Given the description of an element on the screen output the (x, y) to click on. 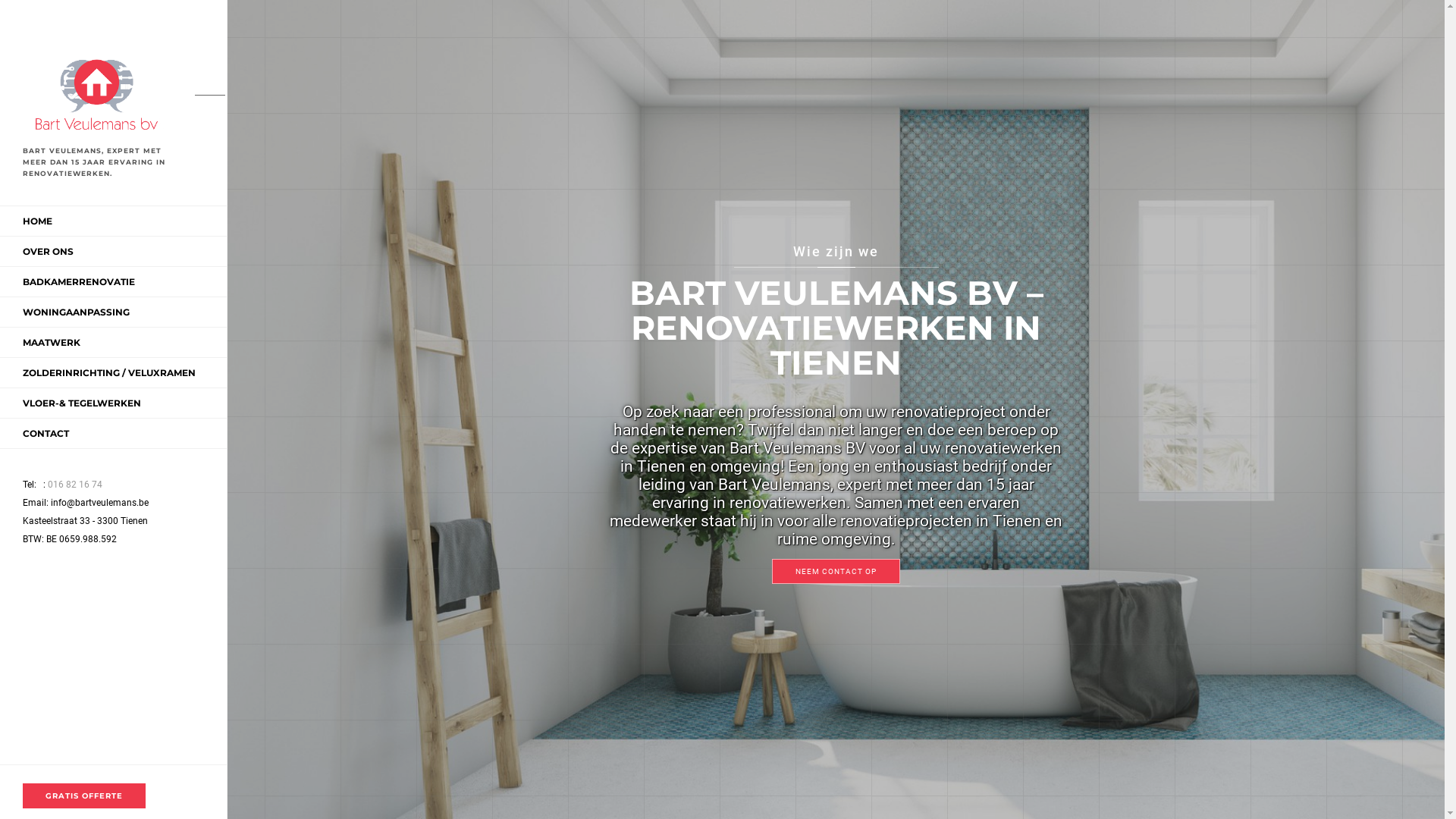
VLOER-& TEGELWERKEN Element type: text (81, 402)
CONTACT Element type: text (45, 433)
BADKAMERRENOVATIE Element type: text (78, 281)
GRATIS OFFERTE Element type: text (83, 795)
MAATWERK Element type: text (51, 342)
HOME Element type: text (37, 220)
WONINGAANPASSING Element type: text (75, 311)
ZOLDERINRICHTING / VELUXRAMEN Element type: text (108, 372)
NEEM CONTACT OP Element type: text (835, 570)
OVER ONS Element type: text (47, 251)
016 82 16 74 Element type: text (71, 484)
